Given the description of an element on the screen output the (x, y) to click on. 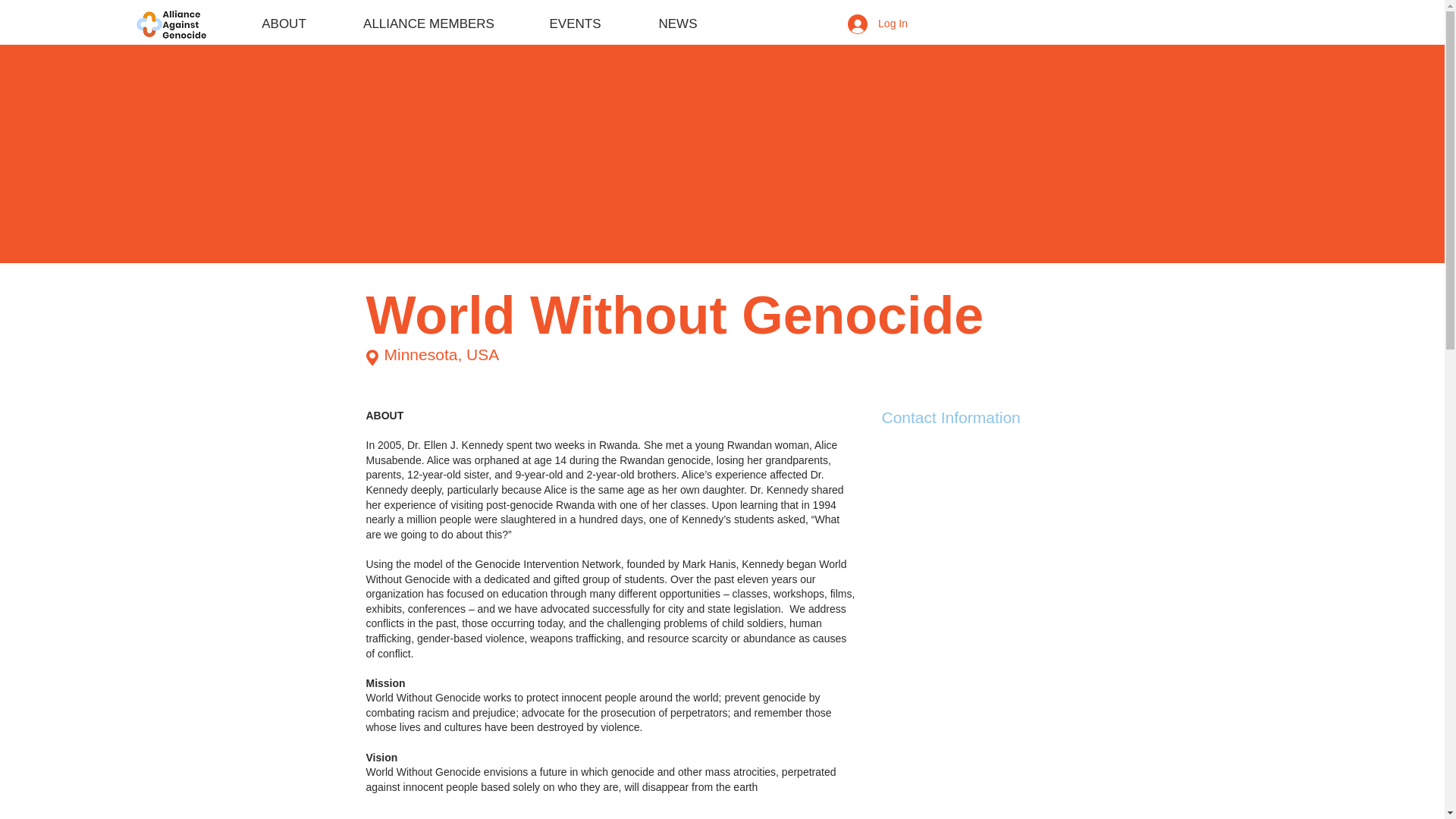
ABOUT (283, 24)
ALLIANCE MEMBERS (428, 24)
EVENTS (574, 24)
NEWS (677, 24)
Log In (877, 23)
